Given the description of an element on the screen output the (x, y) to click on. 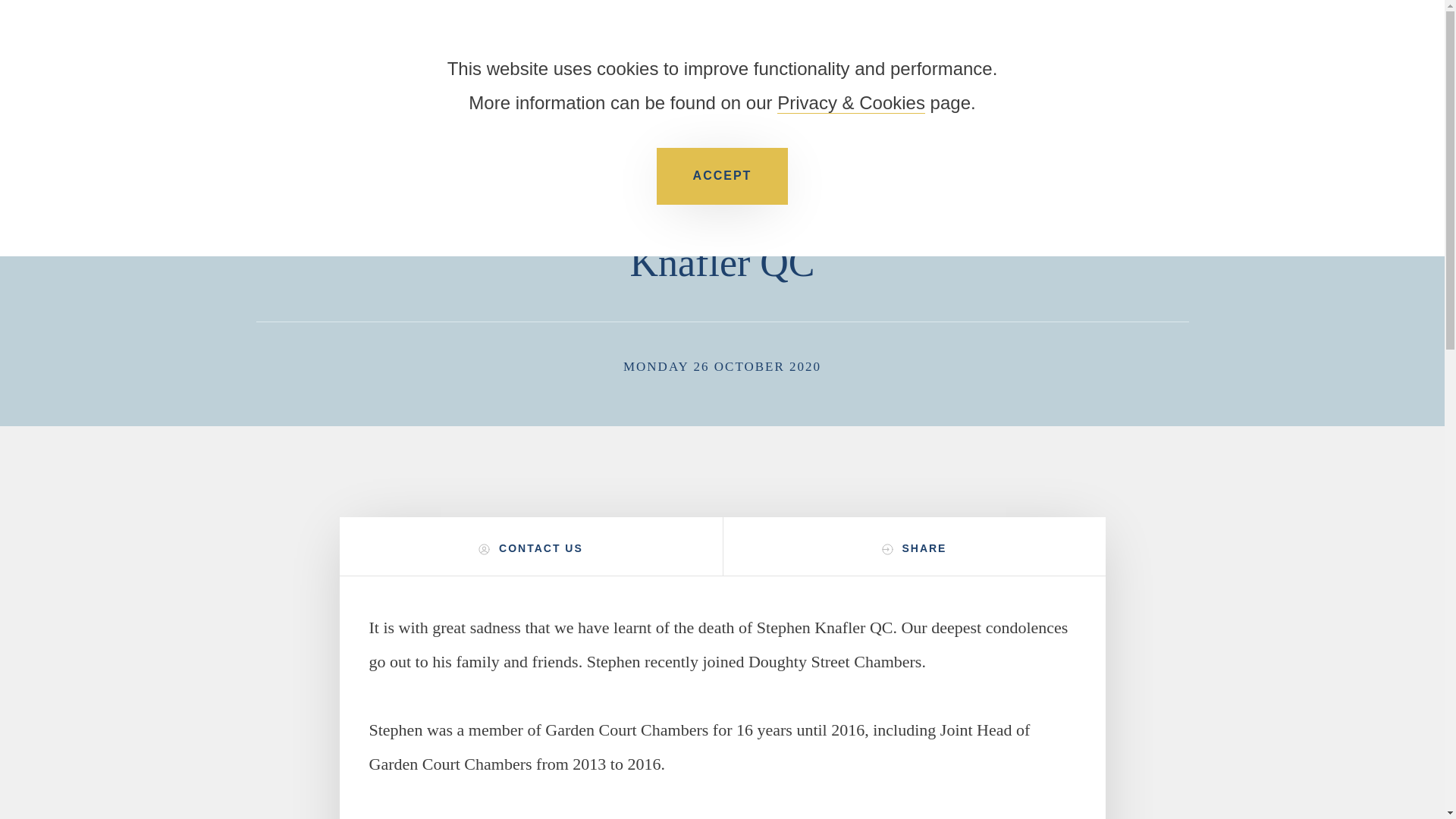
ACCEPT (722, 176)
